Given the description of an element on the screen output the (x, y) to click on. 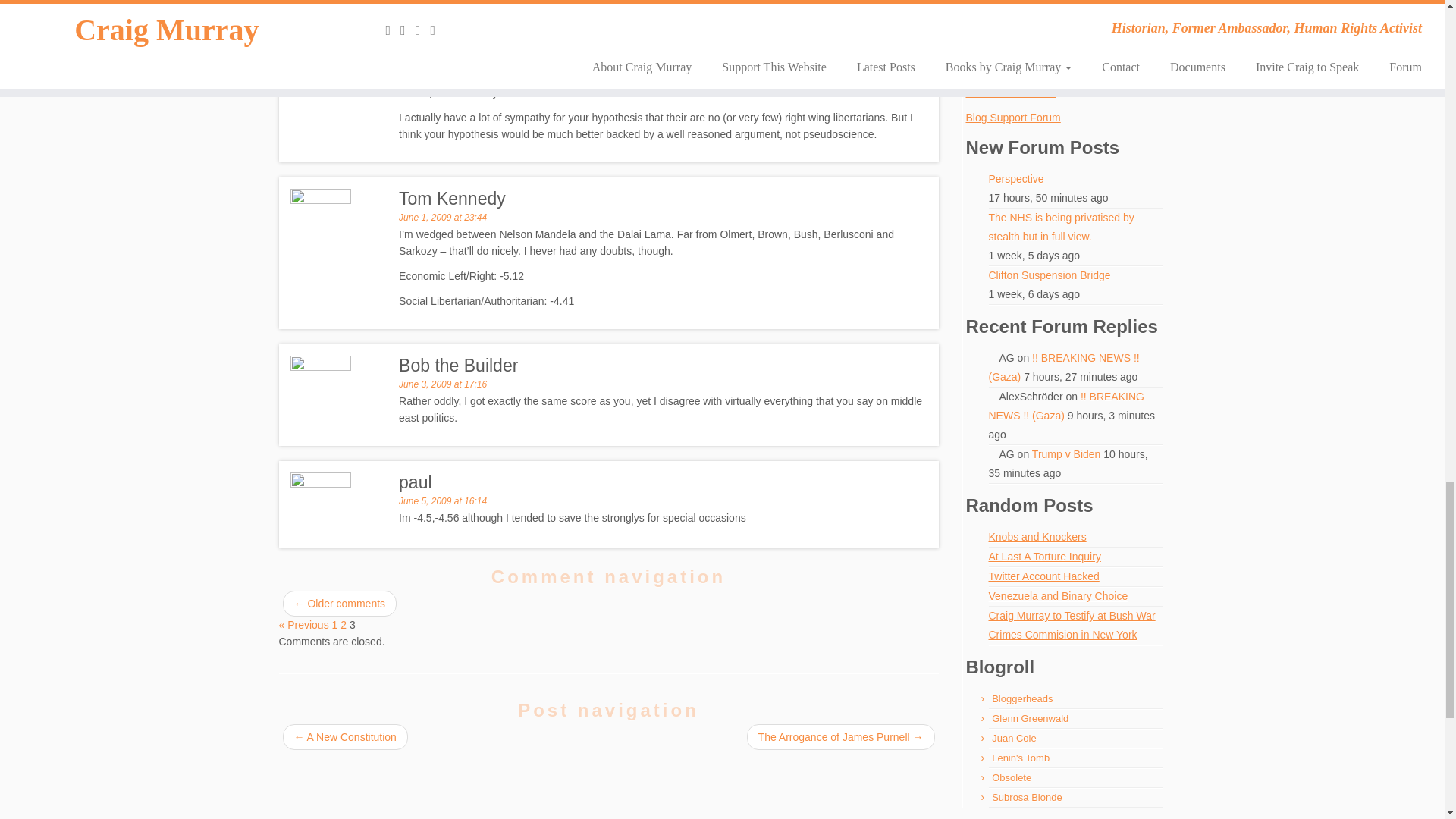
June 1, 2009 at 23:44 (442, 217)
June 5, 2009 at 16:14 (442, 501)
June 3, 2009 at 17:16 (442, 384)
